Given the description of an element on the screen output the (x, y) to click on. 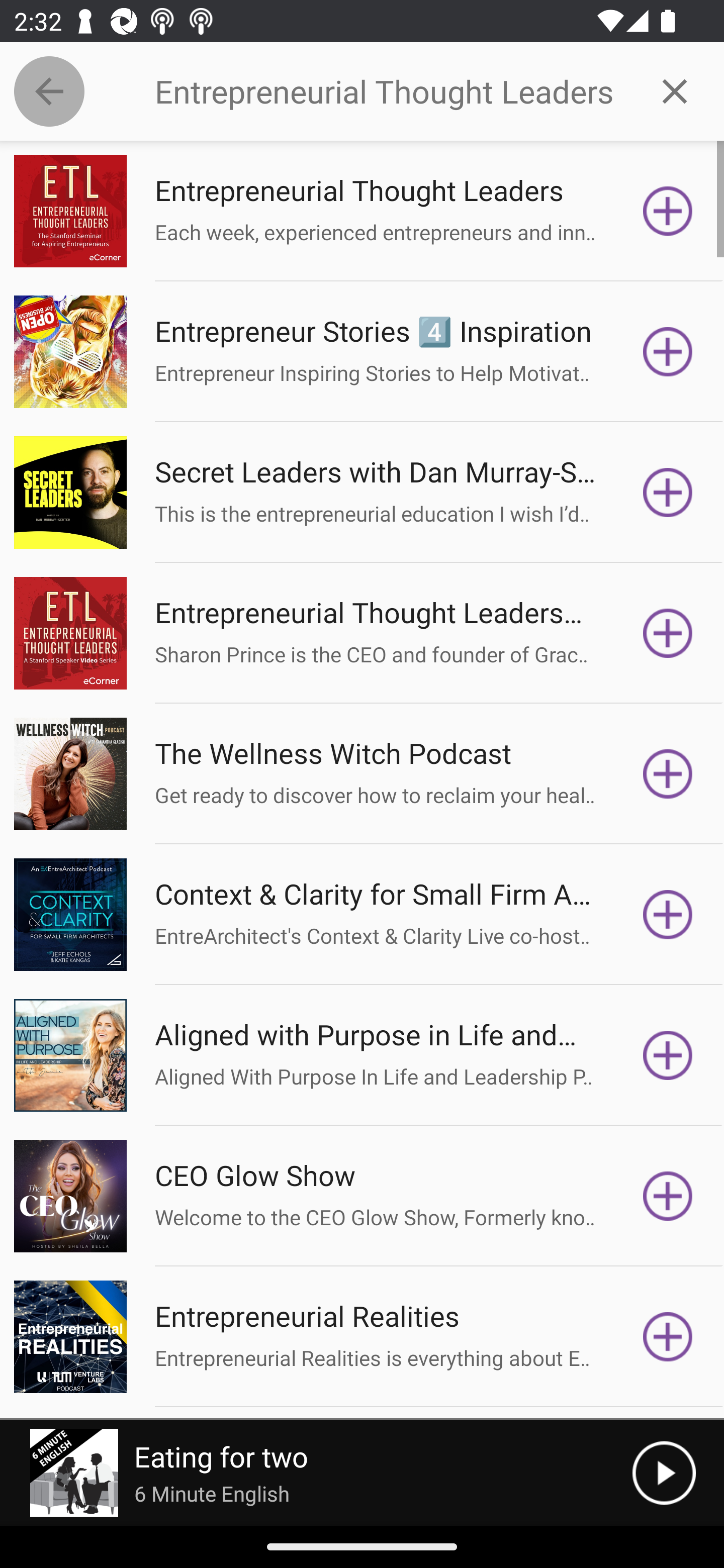
Collapse (49, 91)
Clear query (674, 90)
Entrepreneurial Thought Leaders (389, 91)
Subscribe (667, 211)
Subscribe (667, 350)
Subscribe (667, 491)
Subscribe (667, 633)
Subscribe (667, 773)
Subscribe (667, 913)
Subscribe (667, 1054)
Subscribe (667, 1195)
Subscribe (667, 1336)
Picture Eating for two 6 Minute English (316, 1472)
Play (663, 1472)
